Given the description of an element on the screen output the (x, y) to click on. 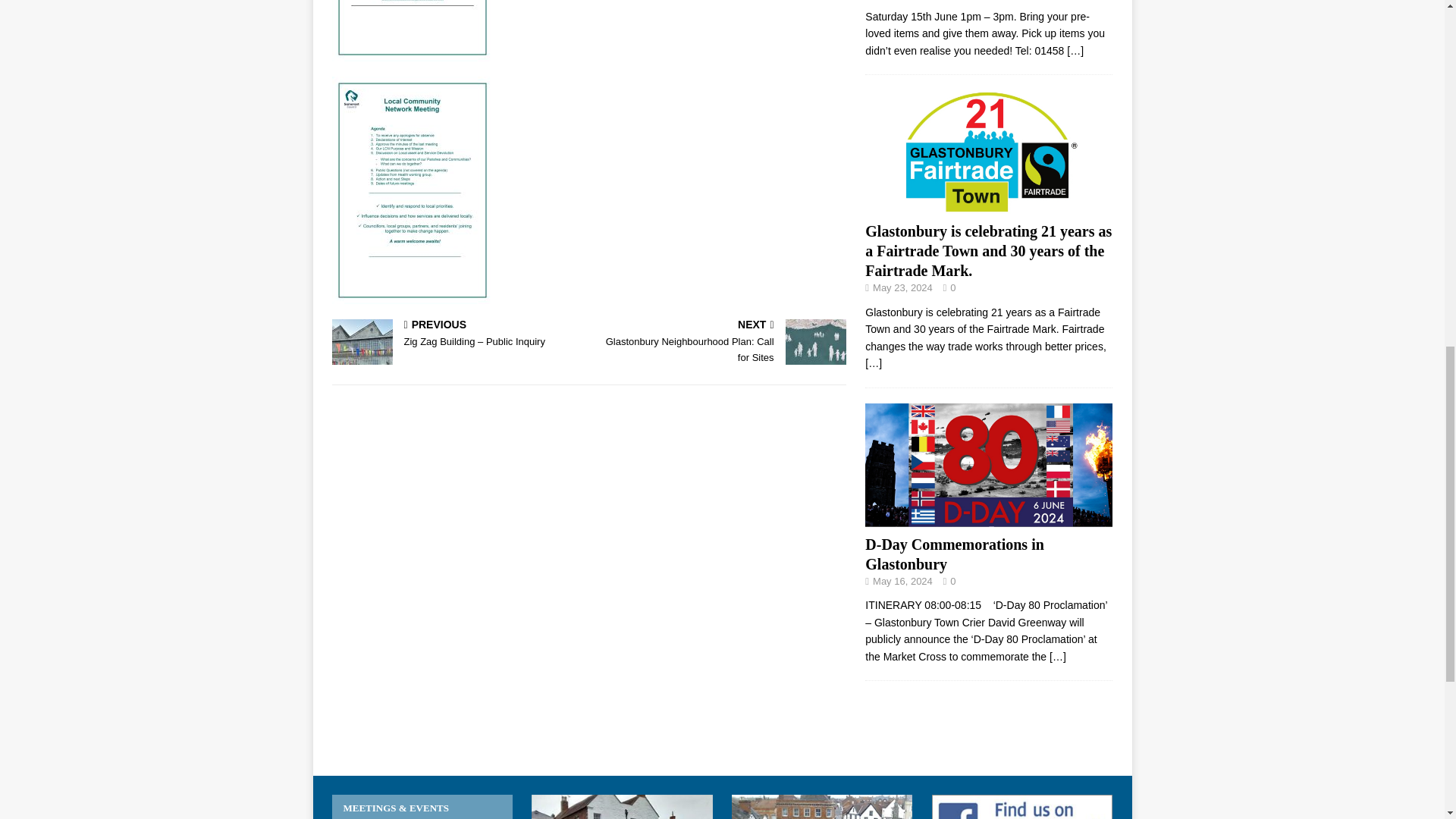
D-Day Commemorations in Glastonbury (953, 554)
D-Day Commemorations in Glastonbury (1057, 656)
D-Day Commemorations in Glastonbury (988, 517)
